Given the description of an element on the screen output the (x, y) to click on. 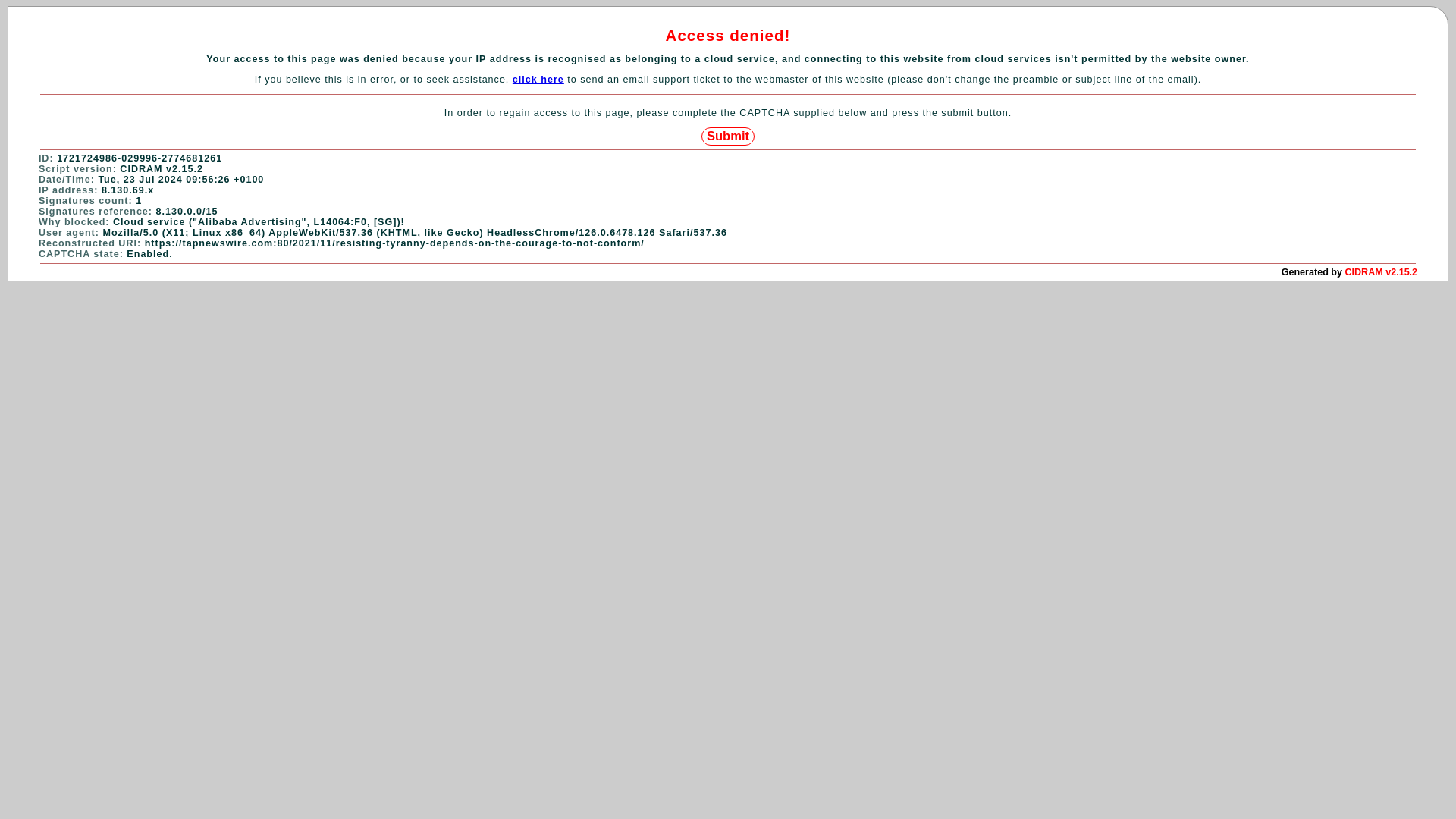
click here (538, 79)
Submit (727, 136)
Submit (727, 136)
